Given the description of an element on the screen output the (x, y) to click on. 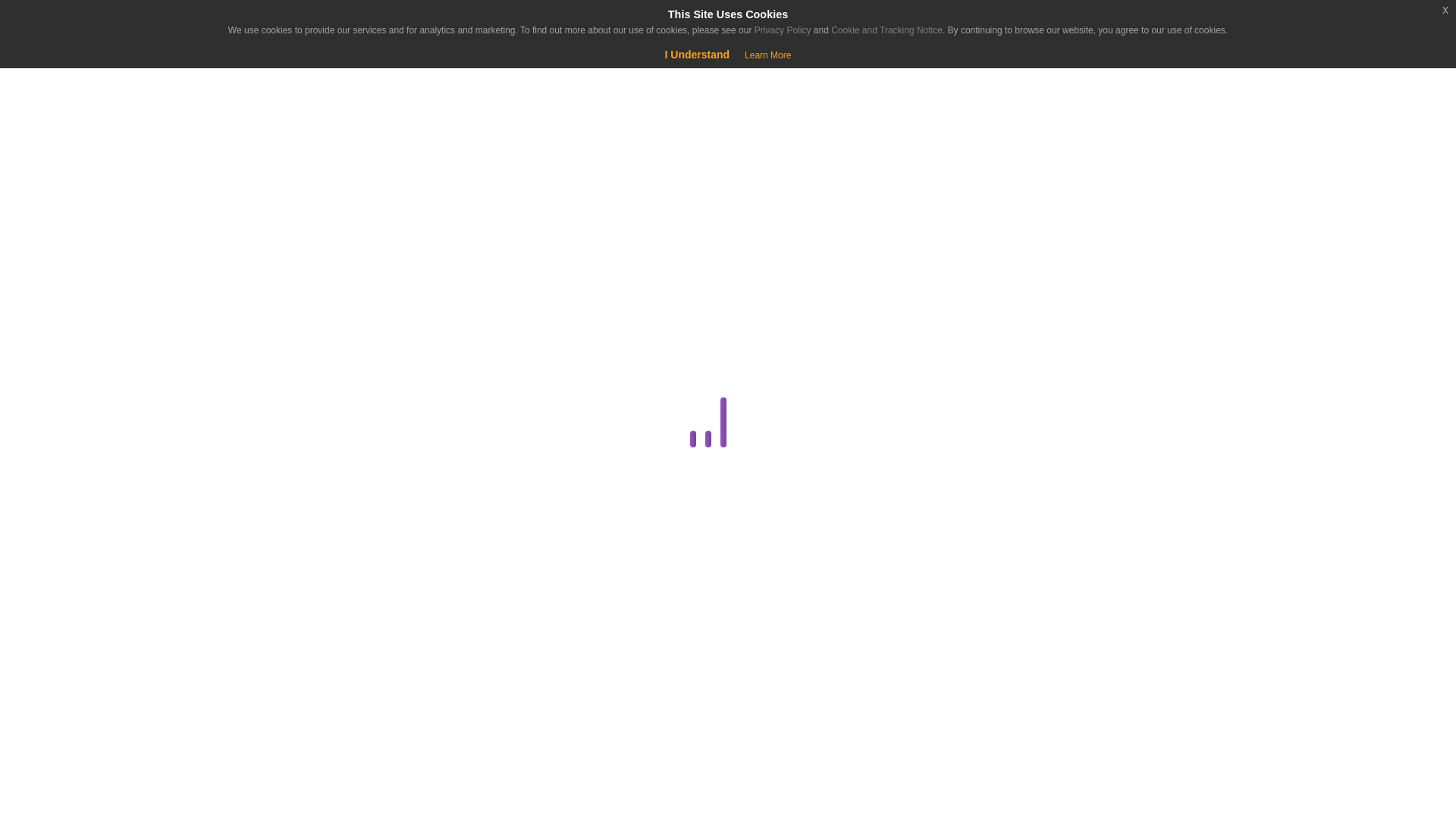
Hosting Dashboard (281, 713)
Hesab (93, 23)
Affiliates (283, 312)
Databases (281, 458)
Billing (281, 349)
Domains API (283, 567)
Domains and DNS (281, 531)
cPanel (281, 422)
Home (94, 138)
Dedicated Server Guides (281, 495)
Linux Administration (281, 750)
Colocation Guides (283, 385)
General (281, 677)
FTP (283, 640)
Shopping Cart (59, 76)
